Given the description of an element on the screen output the (x, y) to click on. 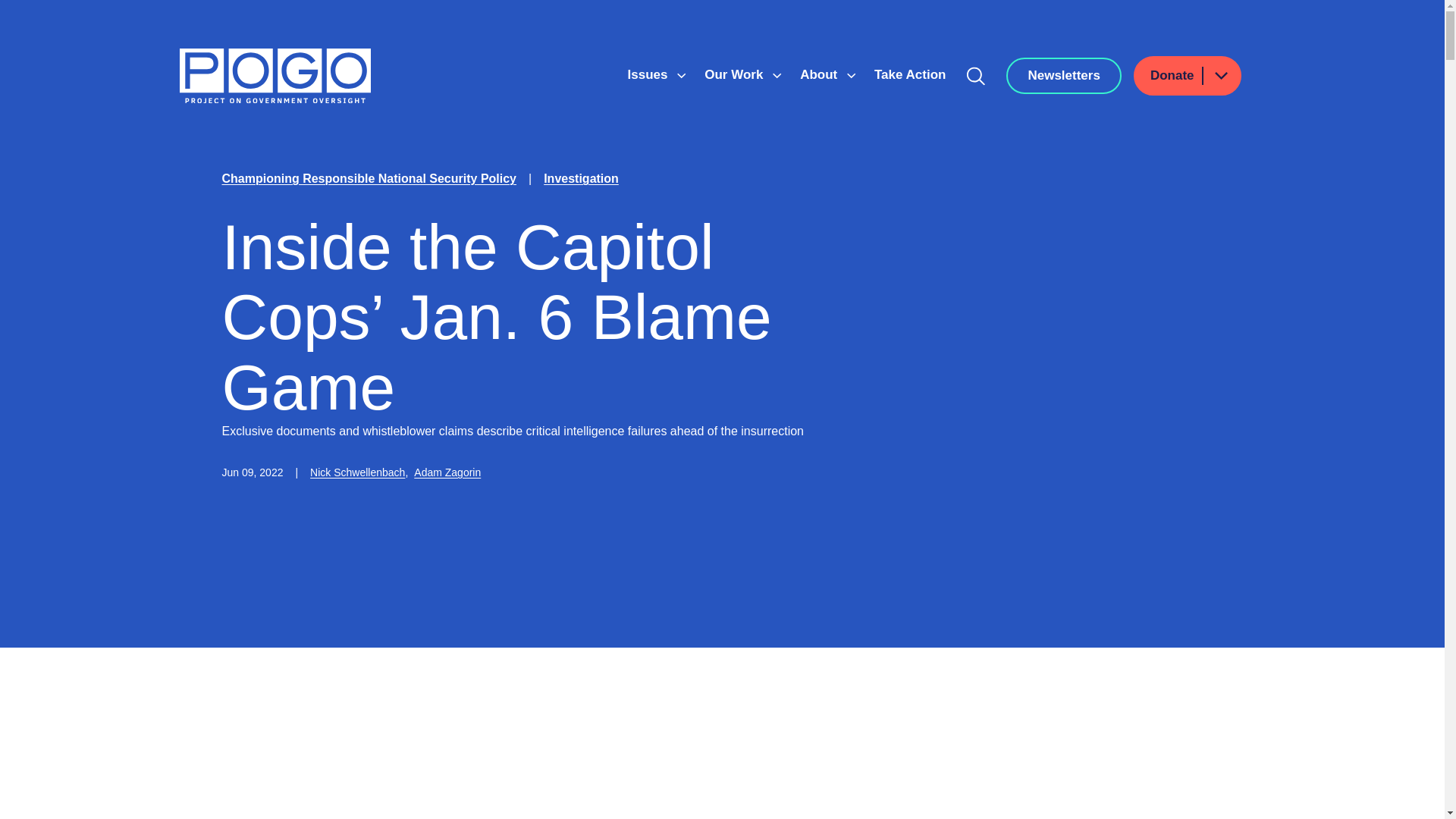
Show submenu for Donate (1220, 75)
Show submenu for Issues (681, 75)
Our Work (735, 74)
Donate (1187, 75)
About (820, 74)
Home (274, 75)
Issues (649, 74)
Show submenu for Our Work (777, 75)
Newsletters (1063, 75)
Search (976, 75)
Take Action (909, 74)
Show submenu for About (851, 75)
